Given the description of an element on the screen output the (x, y) to click on. 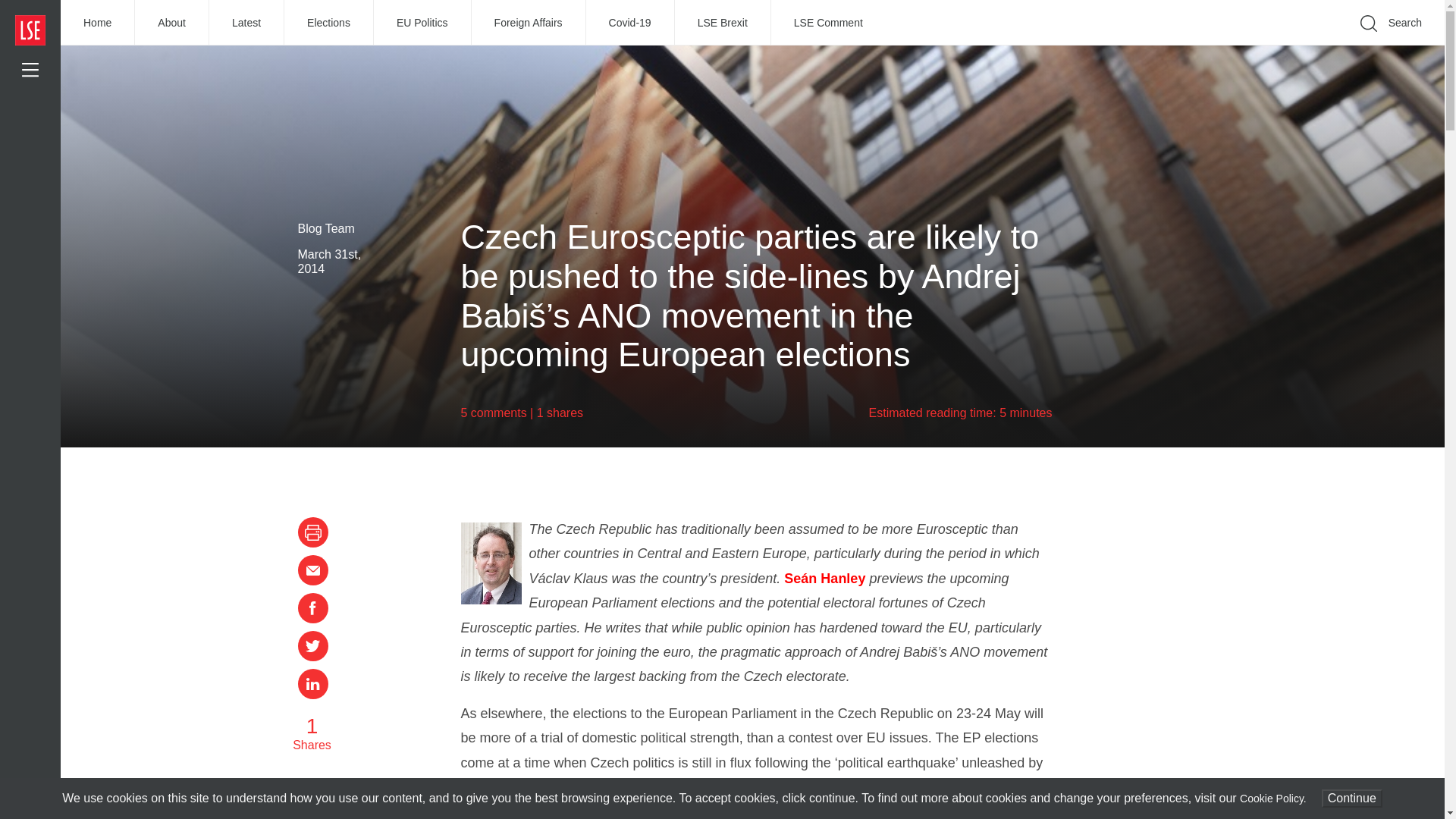
Latest (246, 22)
Covid-19 (630, 22)
About (172, 22)
Go (1190, 44)
Elections (328, 22)
LSE Brexit (723, 22)
EU Politics (422, 22)
LSE Comment (828, 22)
Foreign Affairs (528, 22)
Home (98, 22)
5 comments (494, 412)
